Given the description of an element on the screen output the (x, y) to click on. 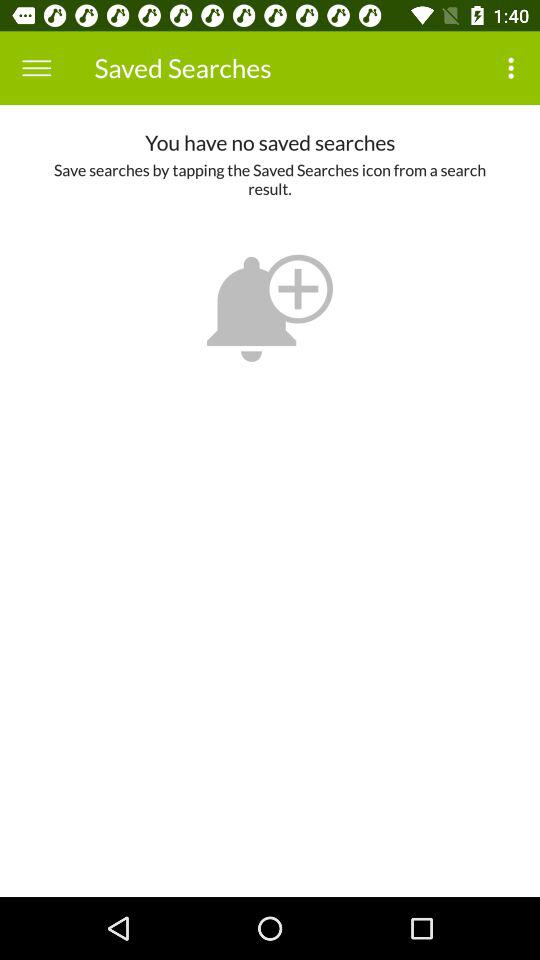
press the icon above you have no icon (36, 68)
